Given the description of an element on the screen output the (x, y) to click on. 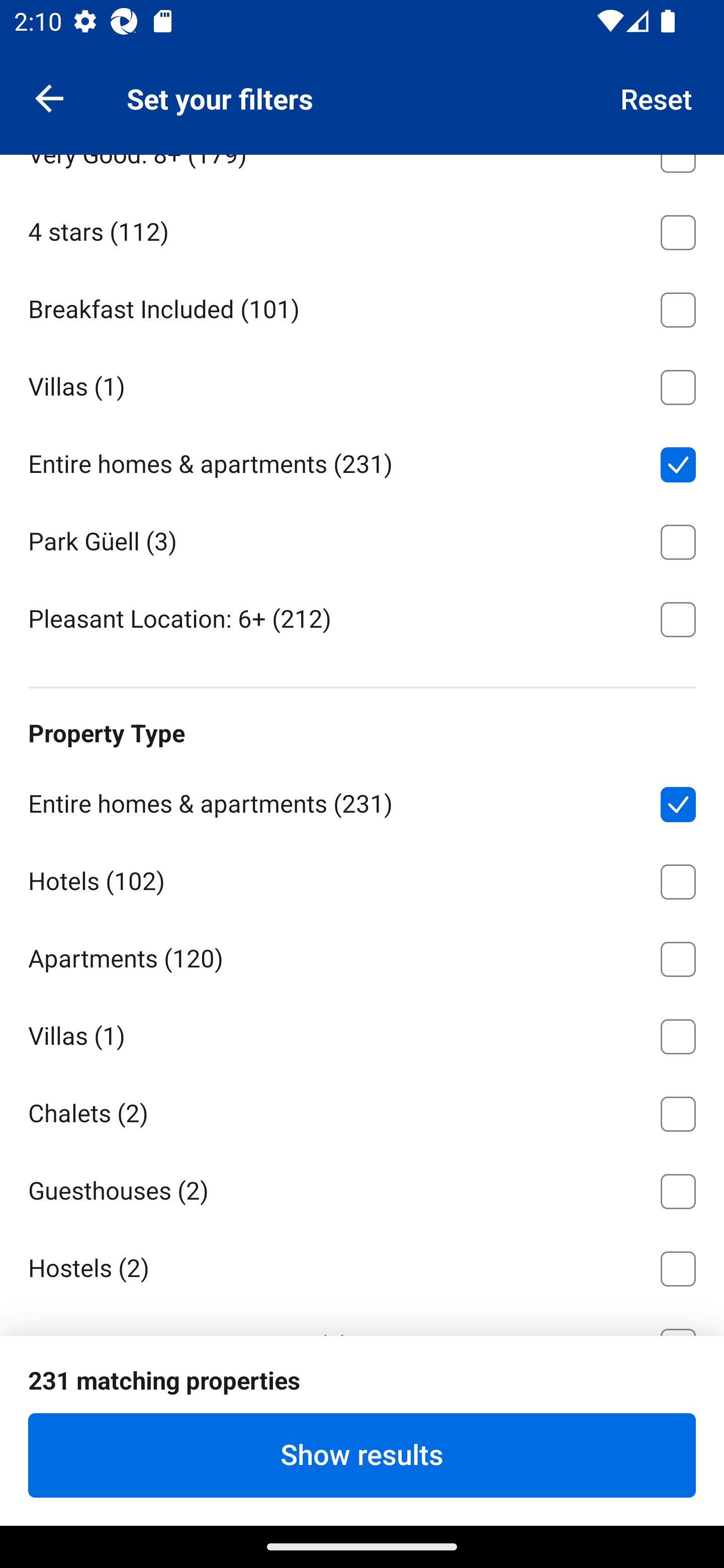
Apartments ⁦(120) (361, 74)
Navigate up (49, 97)
Reset (656, 97)
4 stars ⁦(112) (361, 228)
Breakfast Included ⁦(101) (361, 306)
Villas ⁦(1) (361, 383)
Entire homes & apartments ⁦(231) (361, 461)
Park Güell ⁦(3) (361, 538)
Pleasant Location: 6+ ⁦(212) (361, 617)
Entire homes & apartments ⁦(231) (361, 801)
Hotels ⁦(102) (361, 878)
Apartments ⁦(120) (361, 955)
Villas ⁦(1) (361, 1033)
Chalets ⁦(2) (361, 1110)
Guesthouses ⁦(2) (361, 1187)
Hostels ⁦(2) (361, 1265)
Show results (361, 1454)
